Given the description of an element on the screen output the (x, y) to click on. 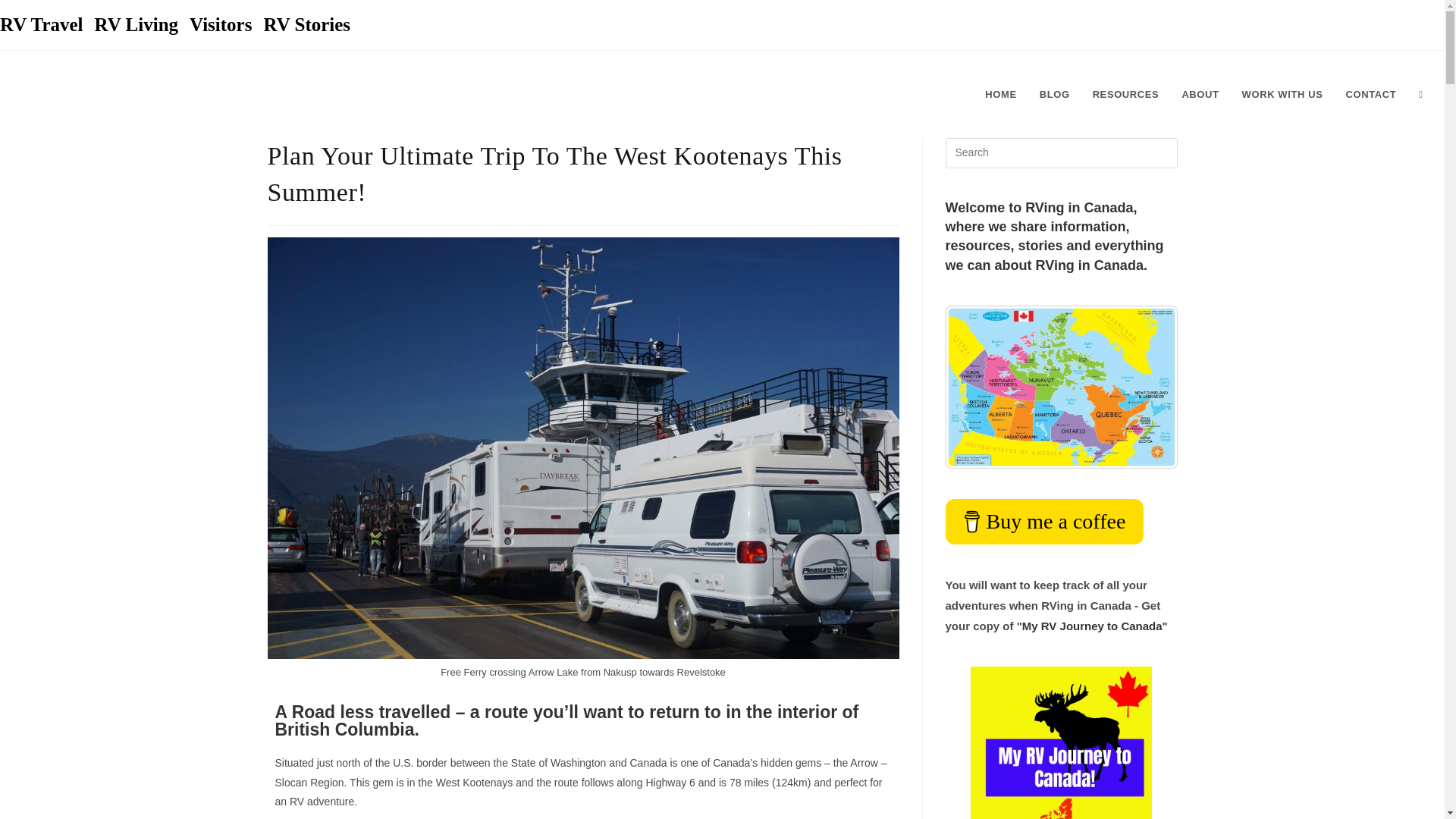
ABOUT (1200, 94)
RESOURCES (1125, 94)
CONTACT (1370, 94)
HOME (1000, 94)
WORK WITH US (1282, 94)
BLOG (1054, 94)
RV Living (136, 24)
RV Stories (306, 24)
RV Travel (41, 24)
RVing in Canada (136, 91)
Visitors (220, 24)
